Given the description of an element on the screen output the (x, y) to click on. 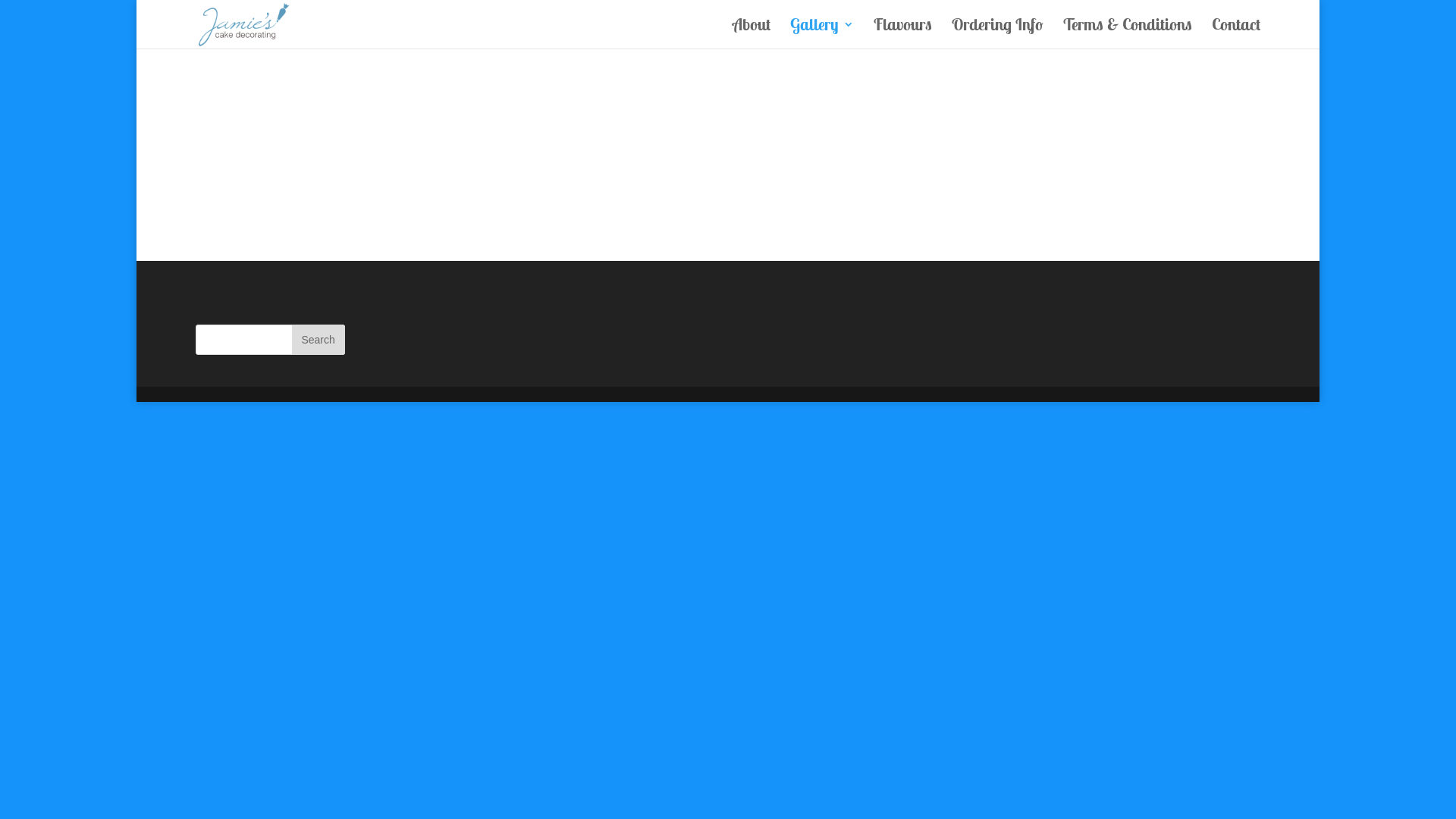
About Element type: text (751, 33)
Search Element type: text (318, 339)
Contact Element type: text (1235, 33)
Flavours Element type: text (902, 33)
Gallery Element type: text (821, 33)
Terms & Conditions Element type: text (1127, 33)
Ordering Info Element type: text (997, 33)
